Given the description of an element on the screen output the (x, y) to click on. 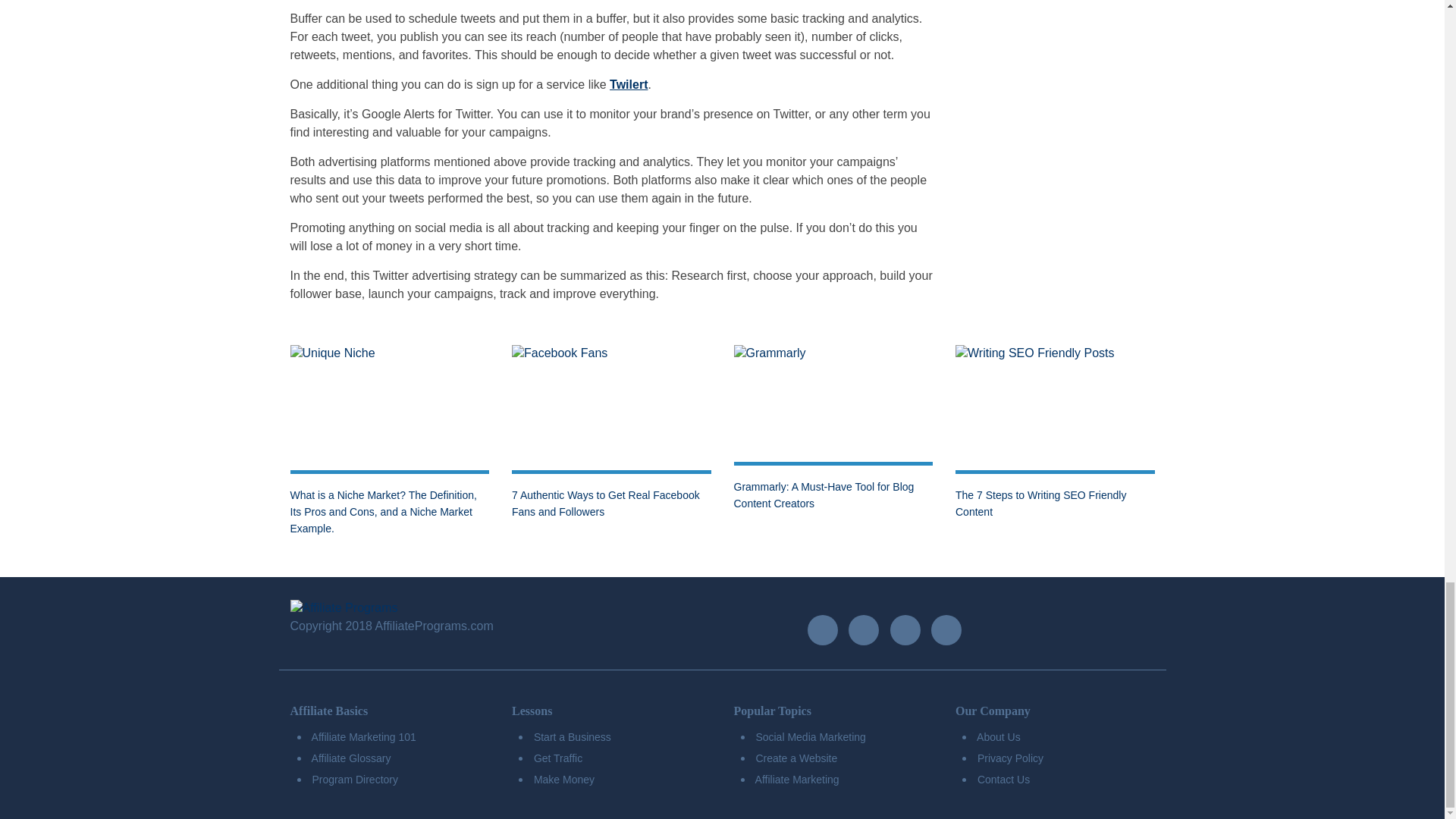
Twilert (628, 83)
Grammarly: A Must-Have Tool for Blog Content Creators (823, 494)
7 Authentic Ways to Get Real Facebook Fans and Followers (606, 502)
The 7 Steps to Writing SEO Friendly Content (1040, 502)
